Given the description of an element on the screen output the (x, y) to click on. 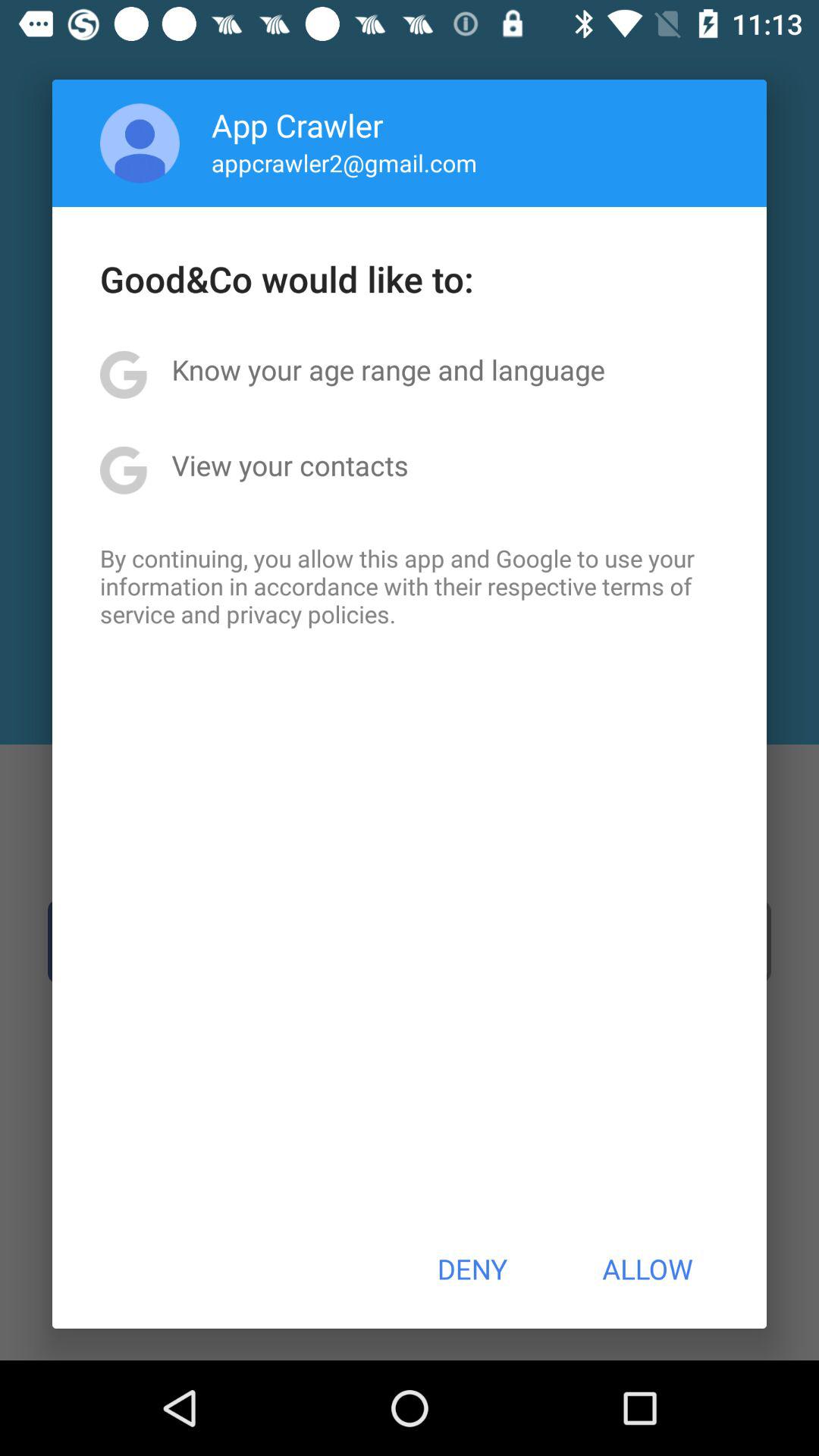
swipe until appcrawler2@gmail.com (344, 162)
